Given the description of an element on the screen output the (x, y) to click on. 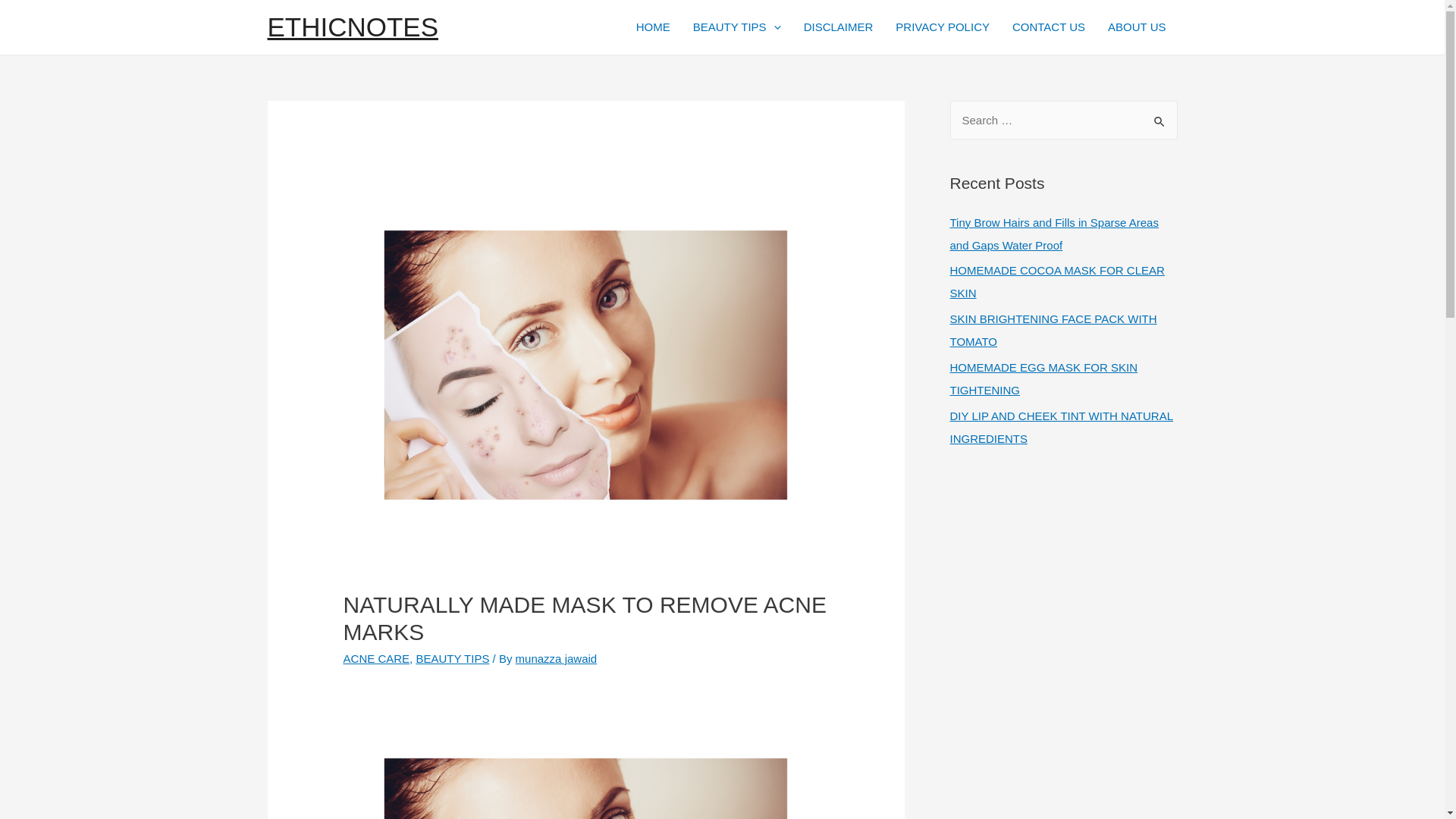
HOME (652, 27)
CONTACT US (1048, 27)
ACNE CARE (376, 658)
PRIVACY POLICY (942, 27)
SKIN BRIGHTENING FACE PACK WITH TOMATO (1052, 330)
BEAUTY TIPS (736, 27)
BEAUTY TIPS (451, 658)
View all posts by munazza jawaid (555, 658)
Search (1159, 115)
DISCLAIMER (838, 27)
